Given the description of an element on the screen output the (x, y) to click on. 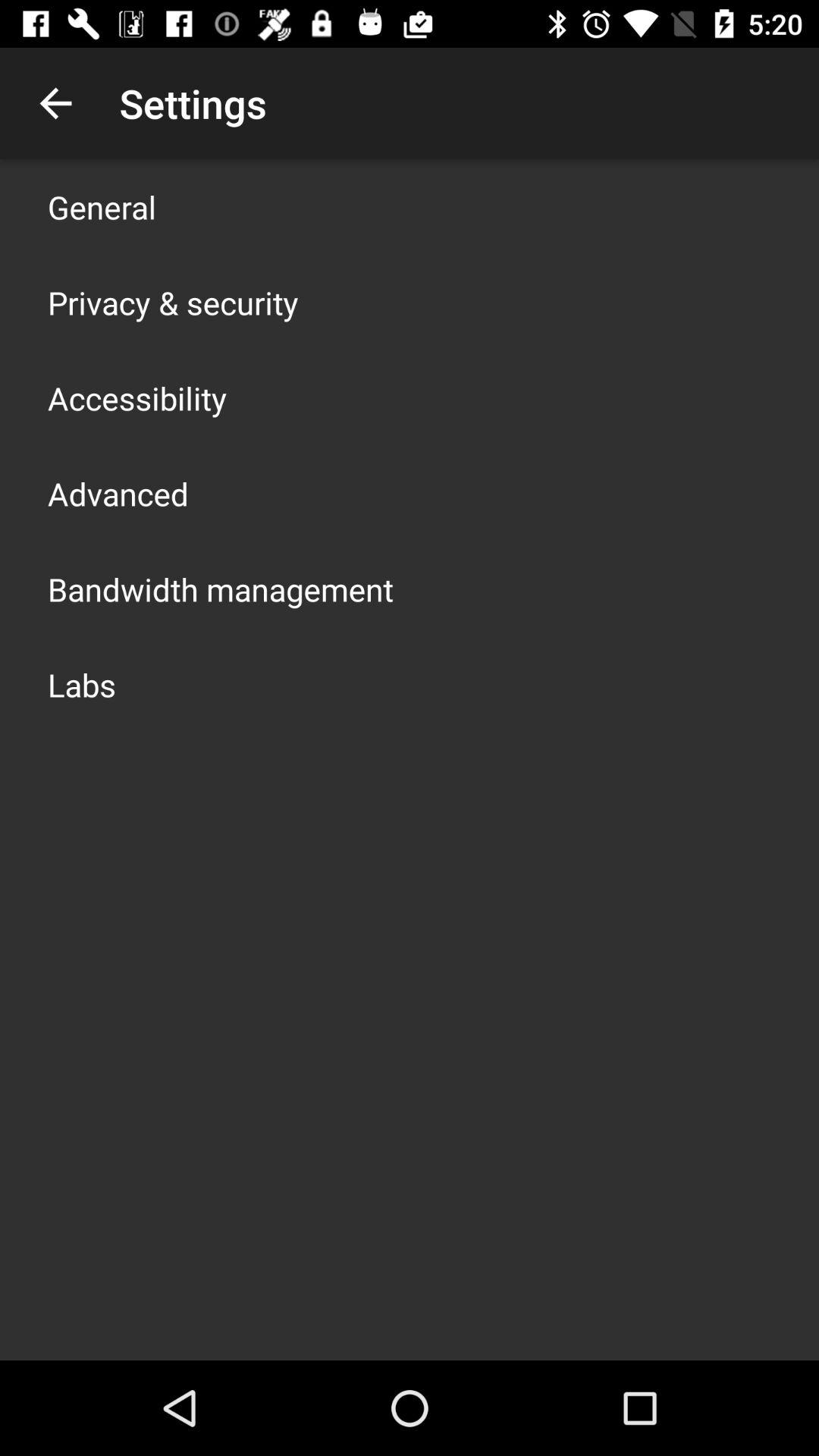
turn off item below the bandwidth management item (81, 684)
